Given the description of an element on the screen output the (x, y) to click on. 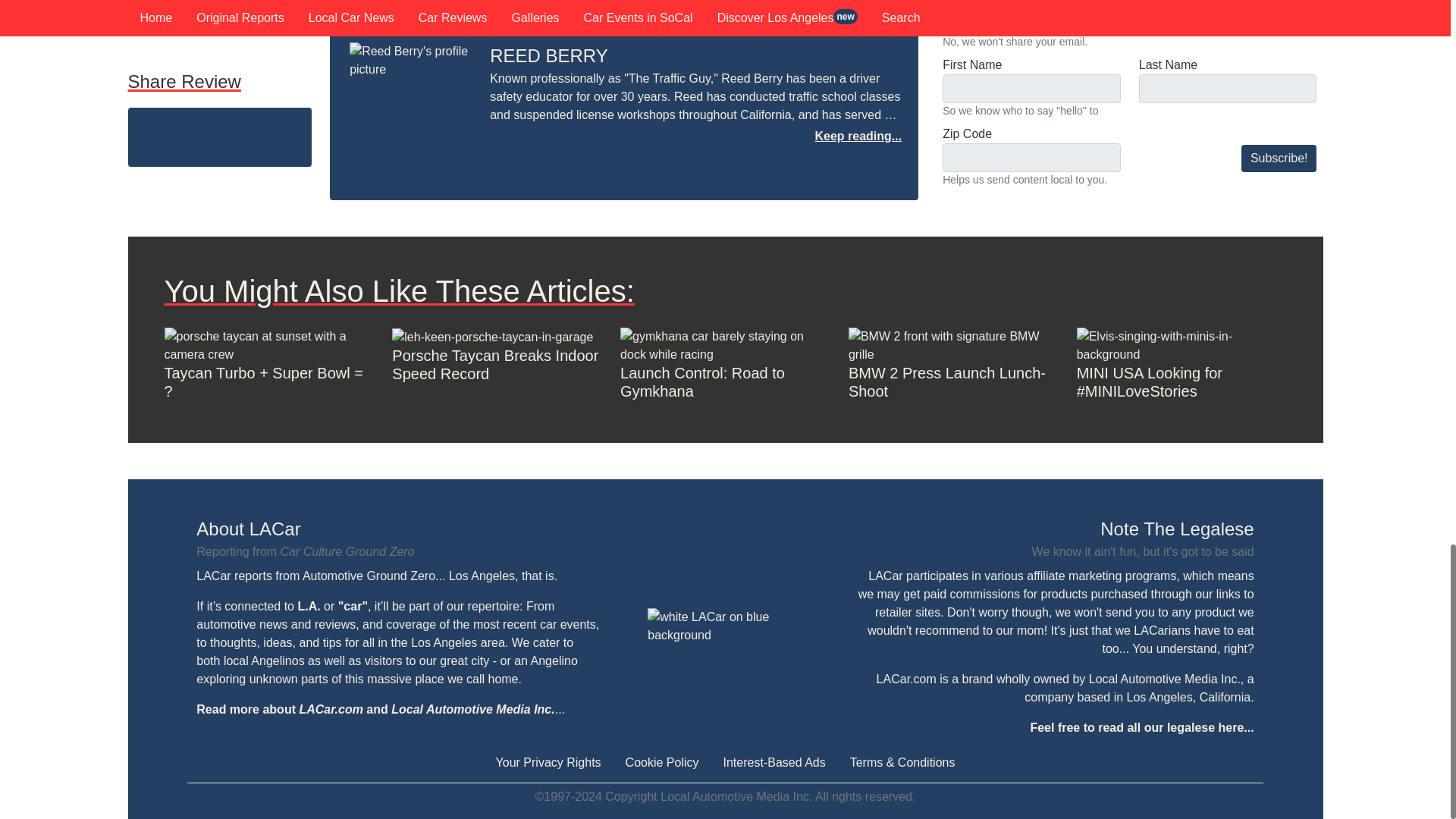
Feel free to read all our legalese here... (1141, 727)
About LACar (397, 528)
Keep reading... (857, 135)
Read more about LACar.com and Local Automotive Media Inc. (375, 708)
REED BERRY (548, 55)
